Given the description of an element on the screen output the (x, y) to click on. 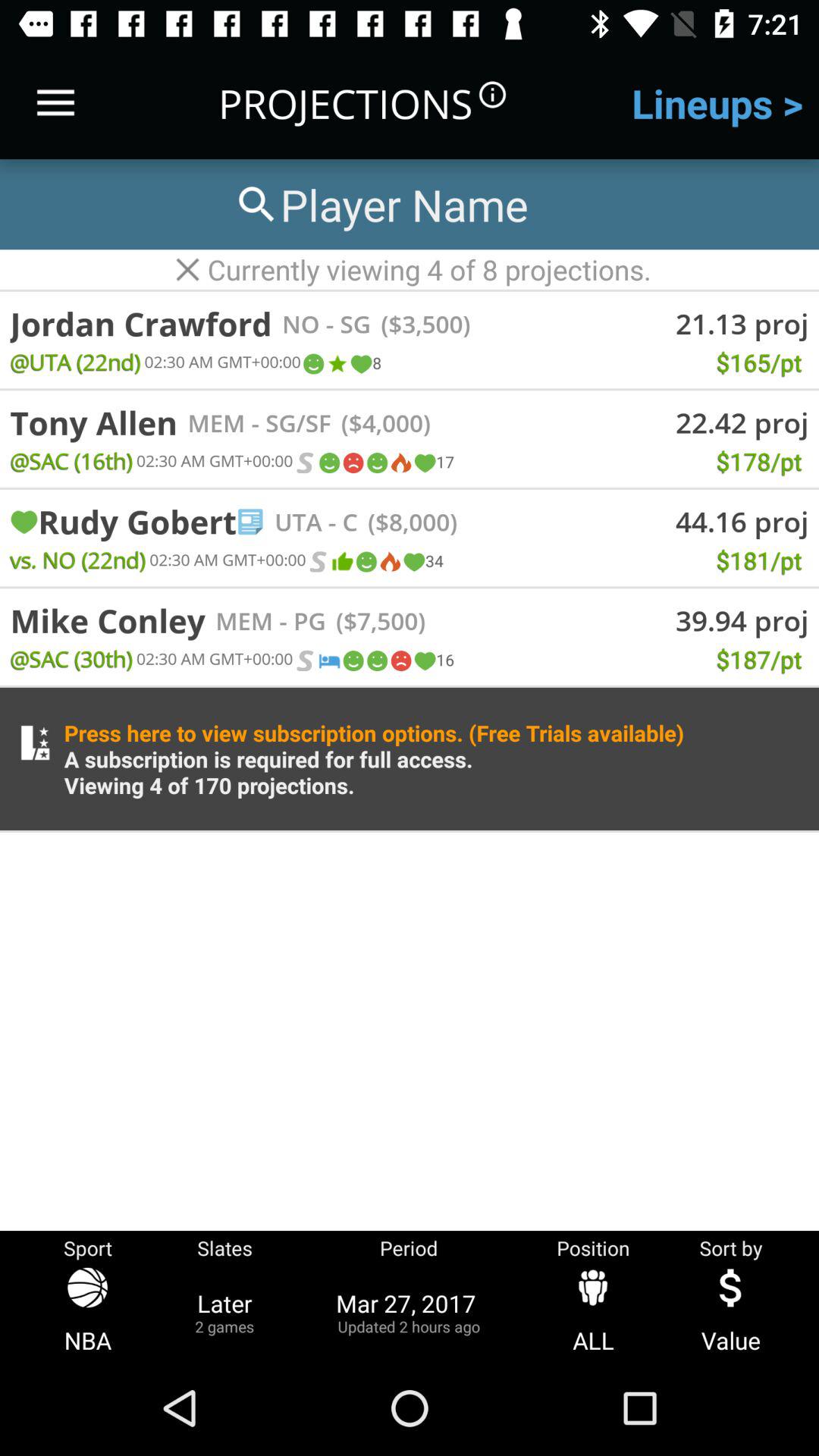
search players (380, 204)
